Given the description of an element on the screen output the (x, y) to click on. 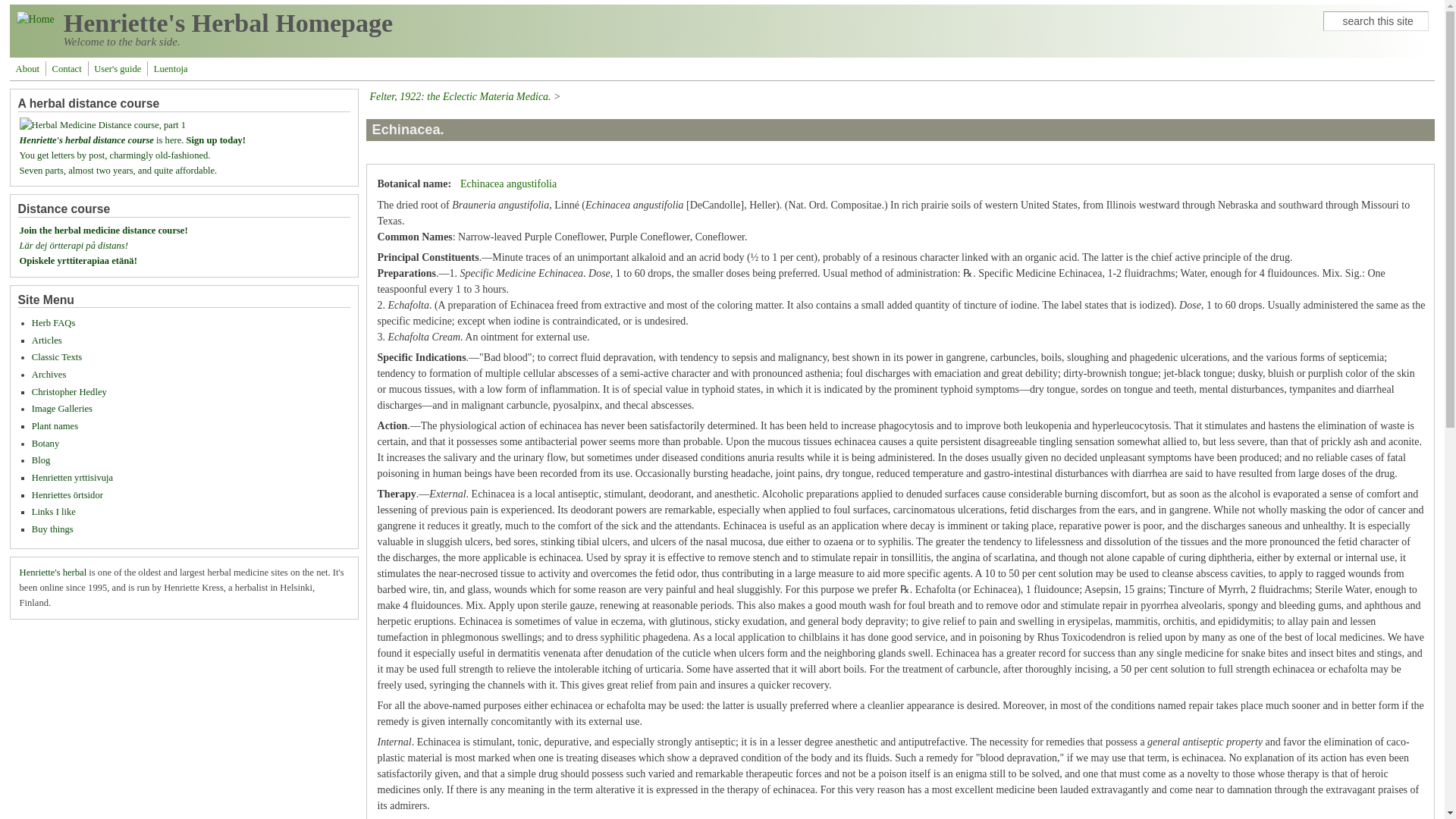
search this site (1375, 21)
Remembering Christopher. (69, 391)
Henriette's herbal (53, 572)
Luentoja (170, 69)
User's guide (117, 69)
Tips on the best way to find things on this site. (117, 69)
Suomenkielinen osa Henrietten yrttisivustosta. (72, 477)
History of the site, author bio, etc. (27, 69)
Join the herbal medicine distance course! (103, 230)
